Given the description of an element on the screen output the (x, y) to click on. 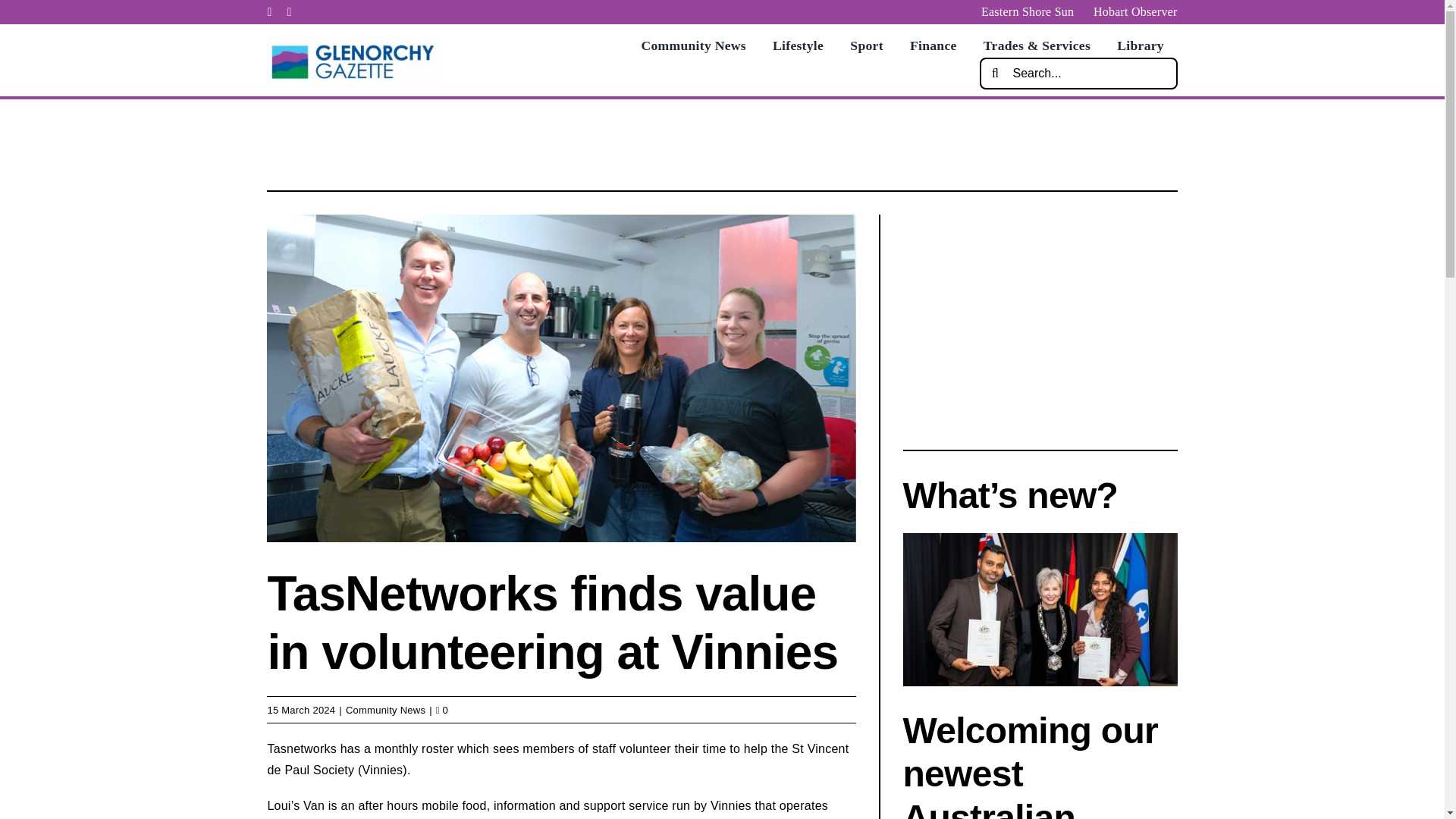
Page 10 (561, 807)
Page 10 (561, 778)
Library (1139, 45)
Community News (385, 709)
Community News (693, 45)
Advertisement (721, 141)
Sport (866, 45)
Lifestyle (798, 45)
